Given the description of an element on the screen output the (x, y) to click on. 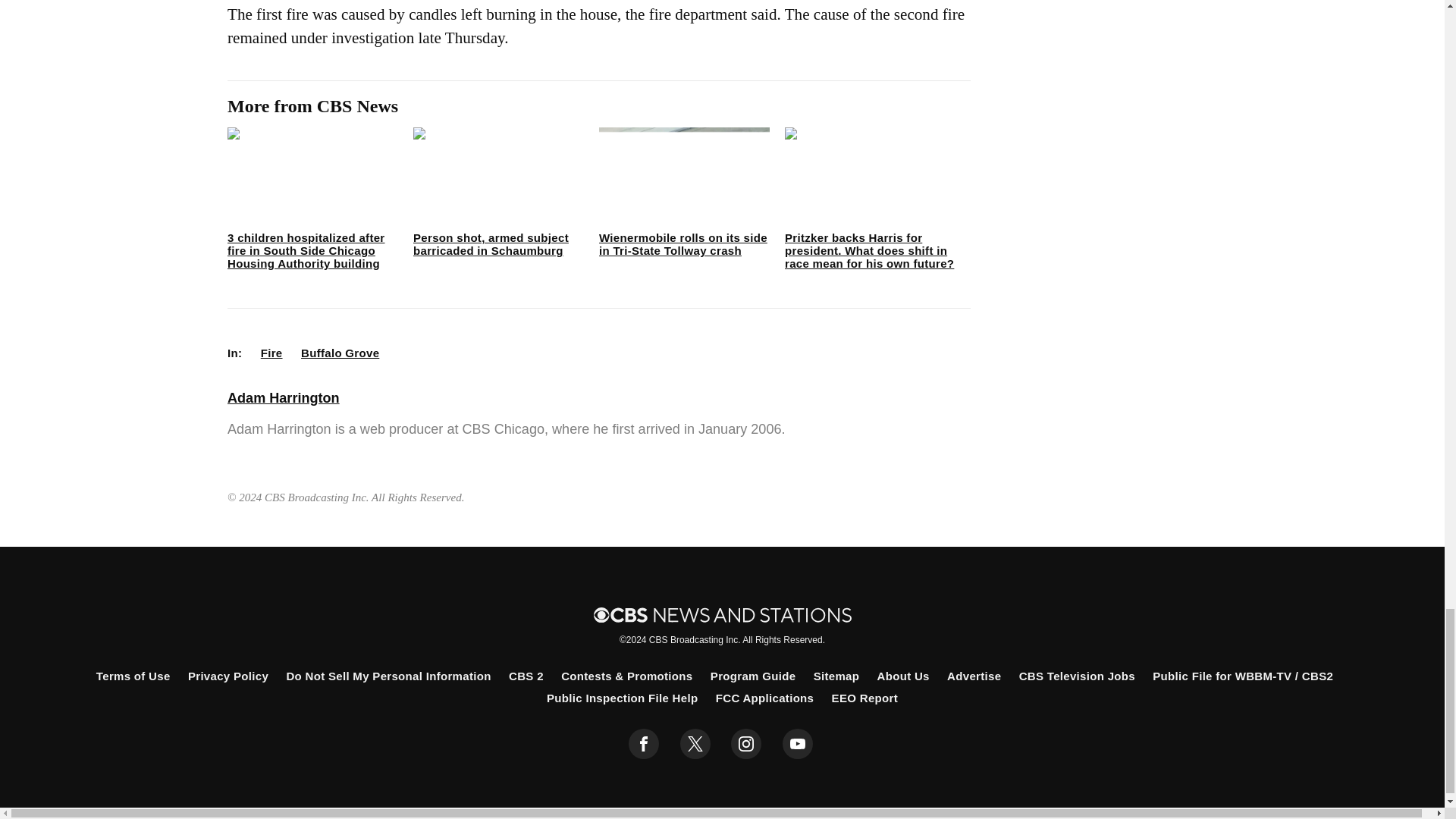
facebook (643, 743)
youtube (797, 743)
instagram (745, 743)
twitter (694, 743)
